Given the description of an element on the screen output the (x, y) to click on. 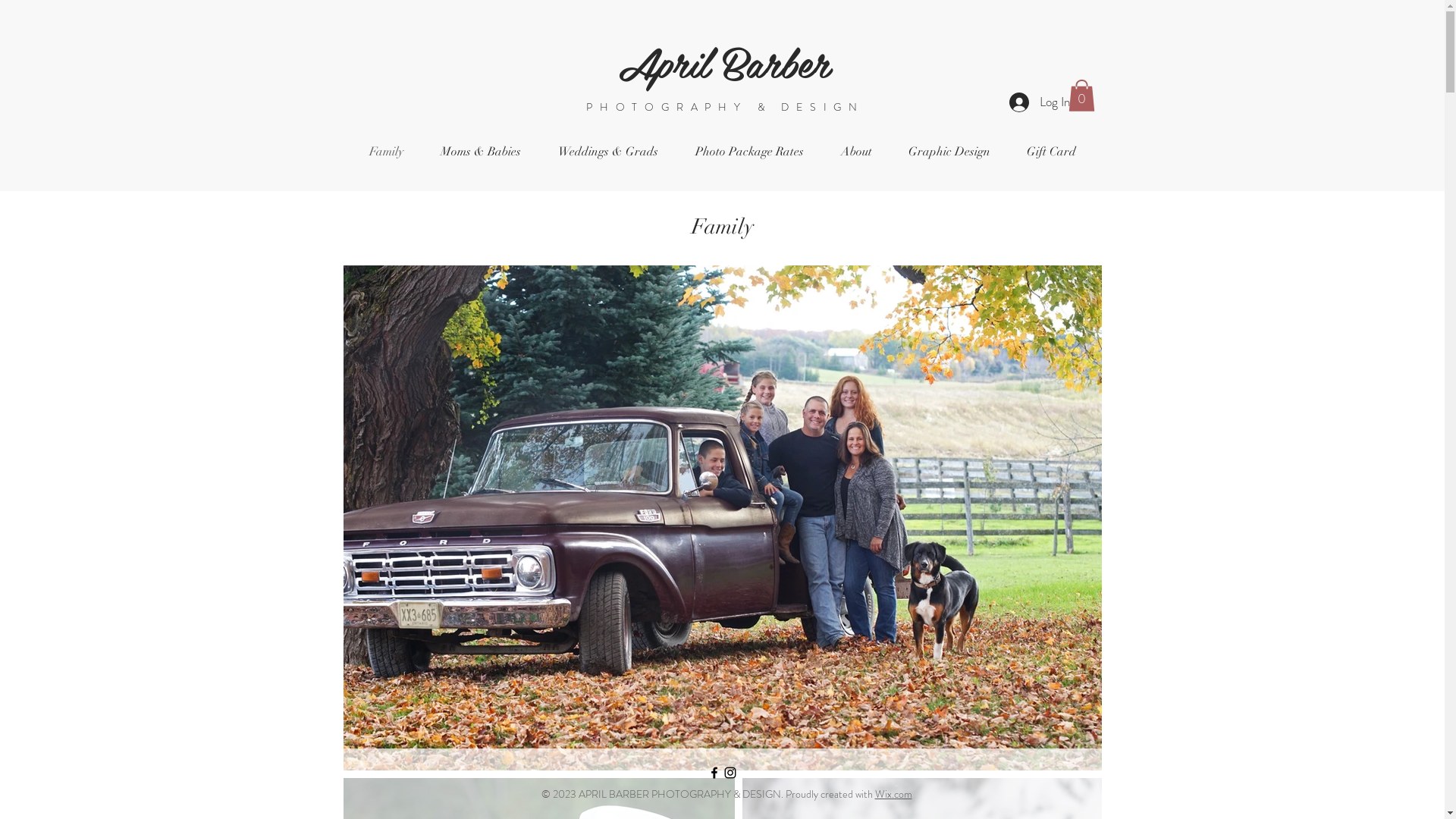
0 Element type: text (1080, 95)
Weddings & Grads Element type: text (608, 151)
PHOTOGRAPHY & DESIGN Element type: text (725, 106)
April Barber Element type: text (723, 61)
Moms & Babies Element type: text (480, 151)
Gift Card Element type: text (1051, 151)
Wix.com Element type: text (893, 793)
About Element type: text (855, 151)
Photo Package Rates Element type: text (749, 151)
Log In Element type: text (1038, 101)
Family Element type: text (385, 151)
Graphic Design Element type: text (949, 151)
